Given the description of an element on the screen output the (x, y) to click on. 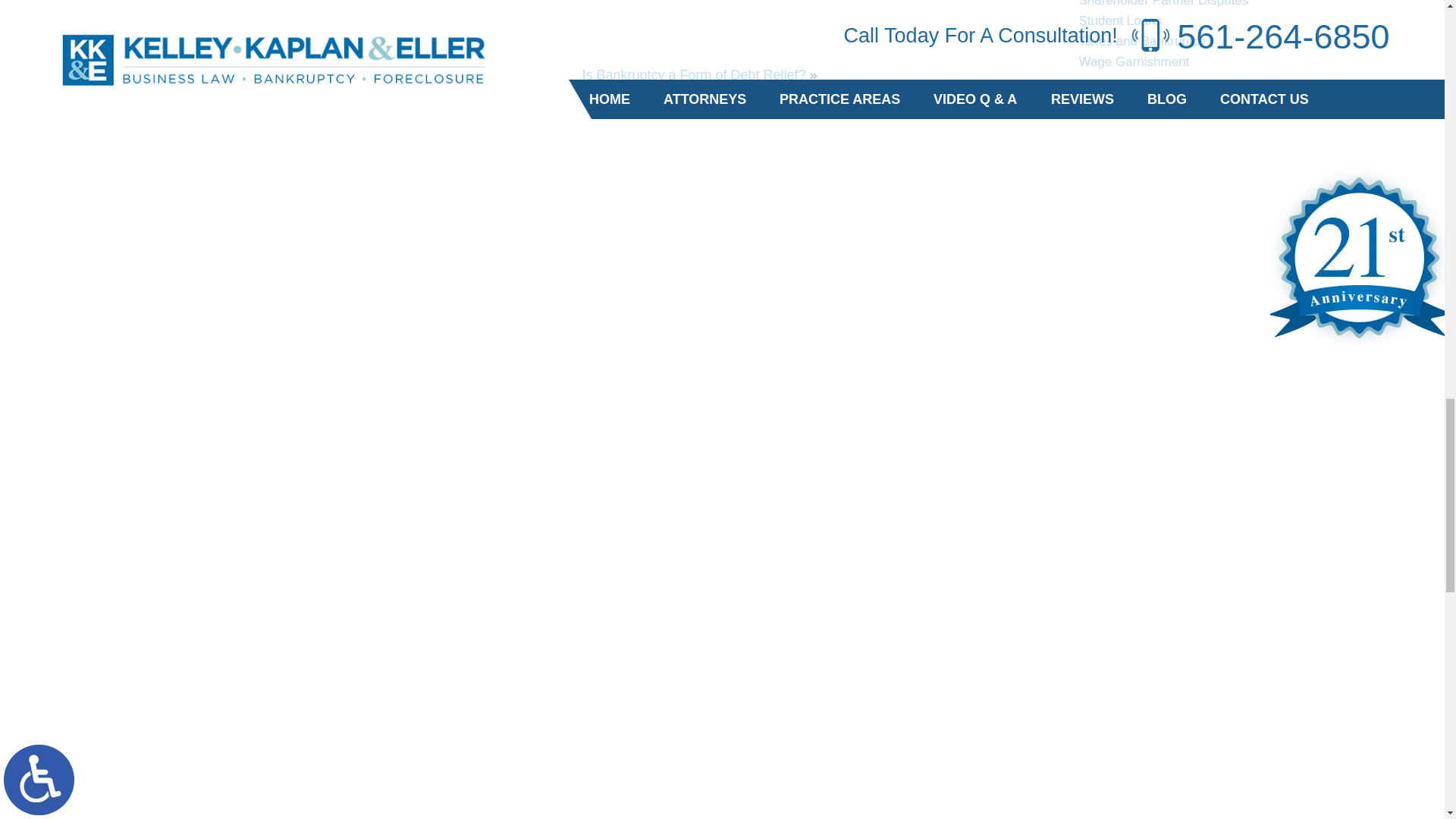
LinkedIn (160, 10)
2024-03-11T03:00:47-0700 (359, 42)
Twitter (149, 10)
Facebook (139, 10)
